Given the description of an element on the screen output the (x, y) to click on. 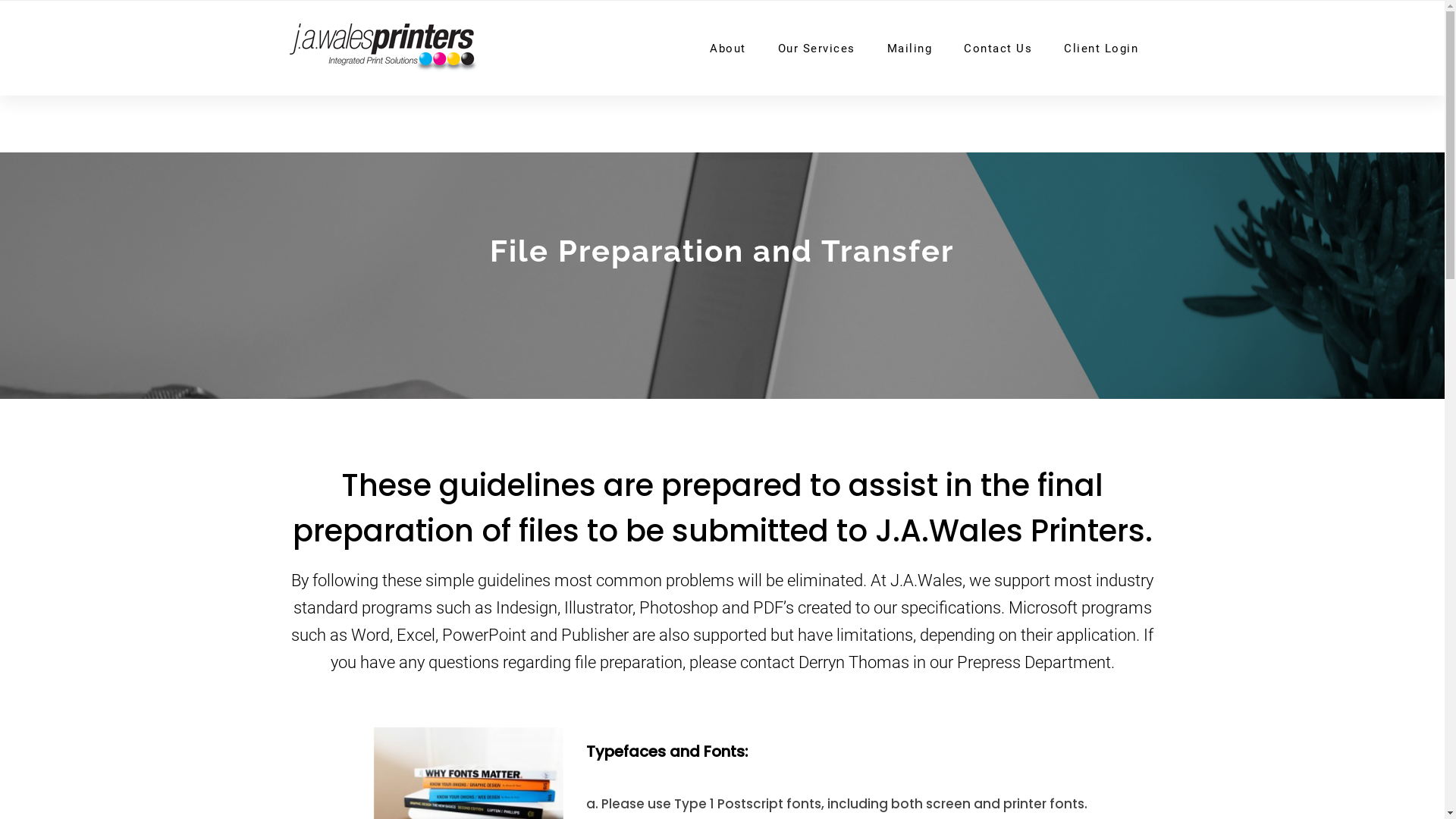
Contact Us Element type: text (997, 47)
Client Login Element type: text (1100, 47)
Our Services Element type: text (816, 47)
Inseek Identity  Element type: text (721, 656)
Mailing Element type: text (909, 47)
About Element type: text (727, 47)
